Given the description of an element on the screen output the (x, y) to click on. 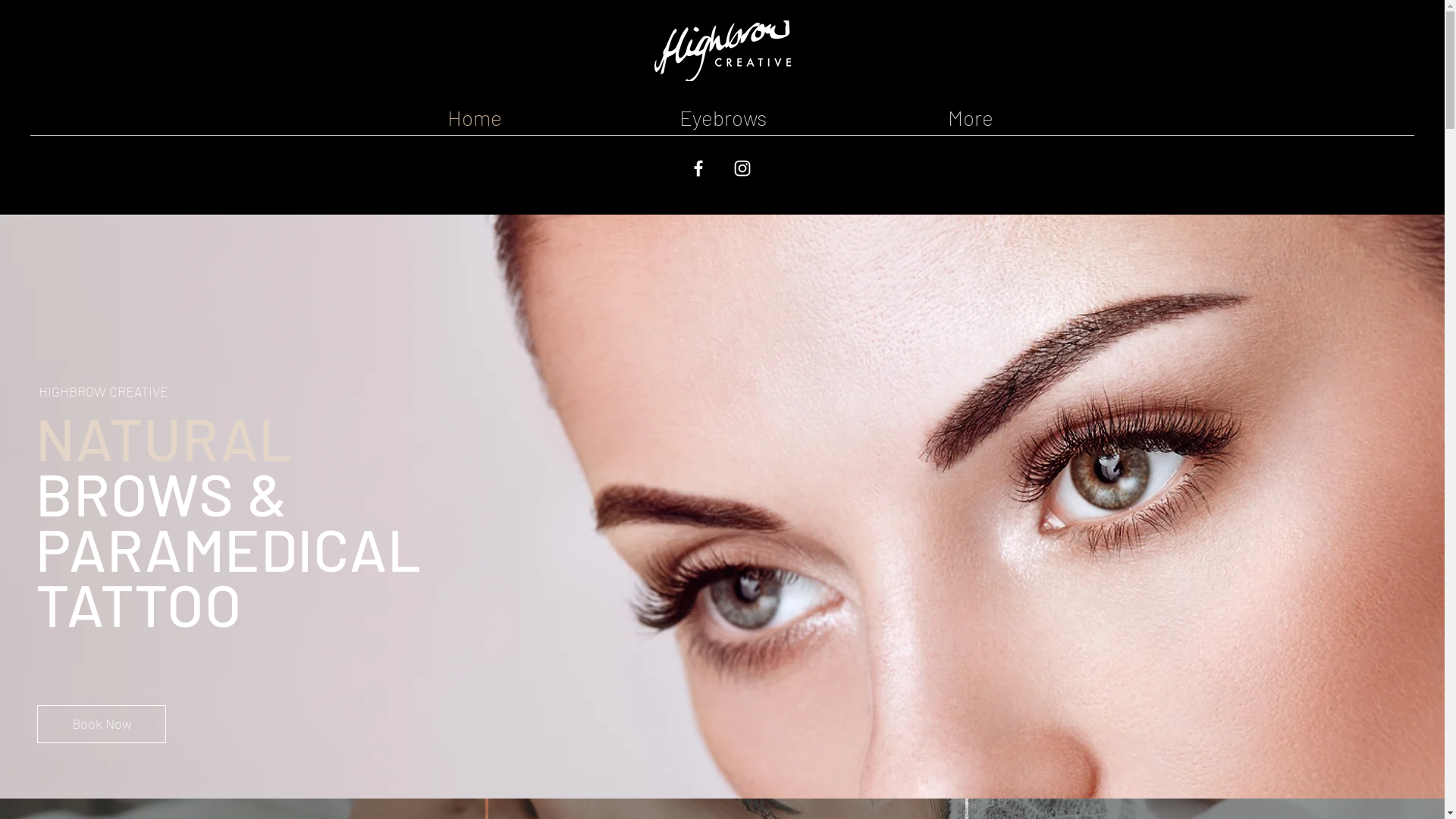
Home Element type: text (474, 117)
Eyebrows Element type: text (723, 117)
Book Now Element type: text (101, 724)
